Given the description of an element on the screen output the (x, y) to click on. 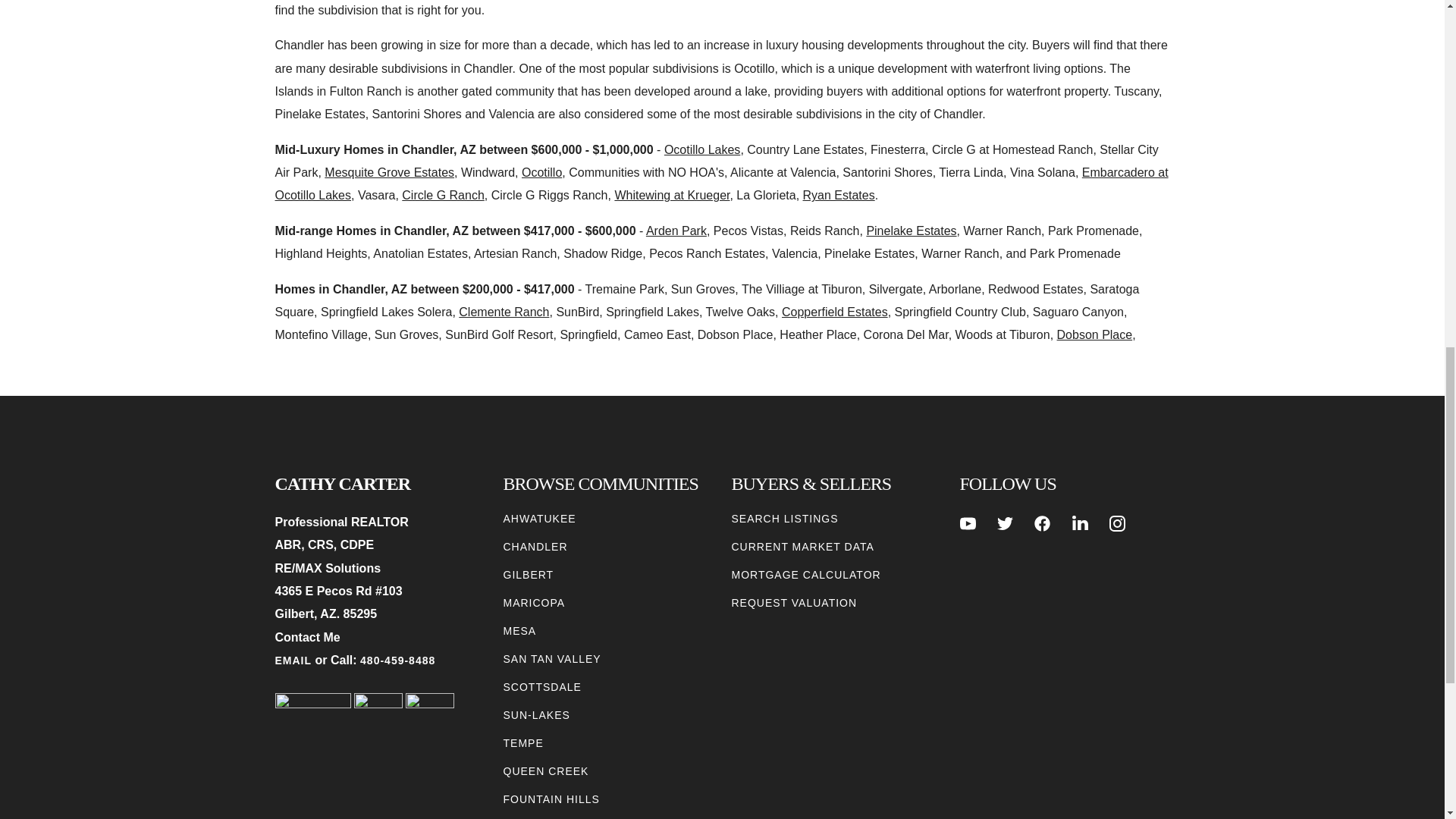
TWITTER (1005, 523)
YOUTUBE (967, 523)
LINKEDIN (1079, 523)
FACEBOOK (1041, 523)
